Given the description of an element on the screen output the (x, y) to click on. 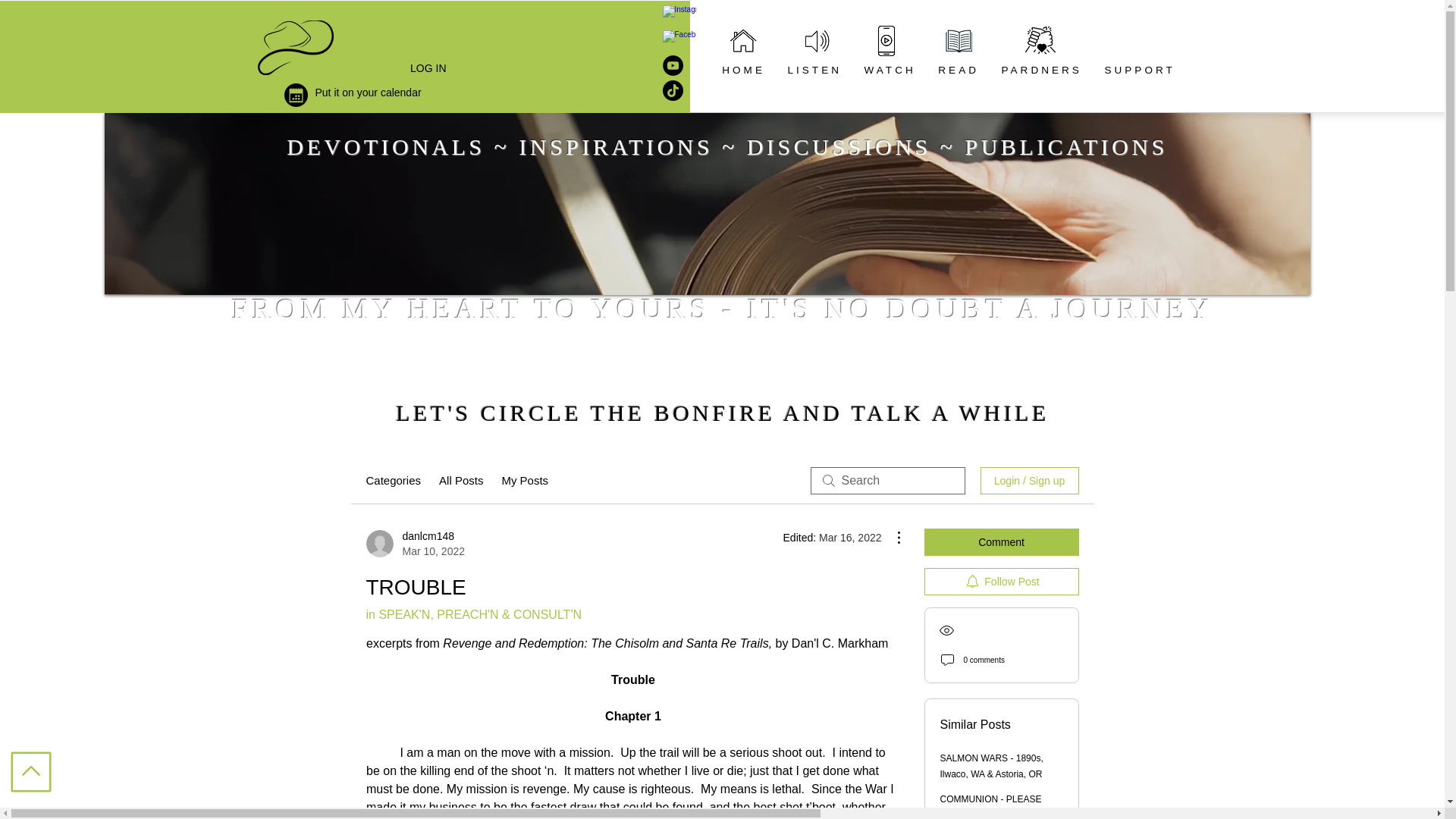
Put it on your calendar (368, 92)
SUPPORT (1139, 69)
PARDNERS (1041, 69)
WATCH (890, 69)
READ (958, 69)
Follow Post (1000, 581)
LOG IN (427, 68)
All Posts (461, 480)
My Posts (524, 480)
Categories (414, 543)
Comment (392, 480)
COMMUNION - PLEASE DON'T MISS IT! (1000, 542)
LISTEN (991, 806)
HOME (814, 69)
